Given the description of an element on the screen output the (x, y) to click on. 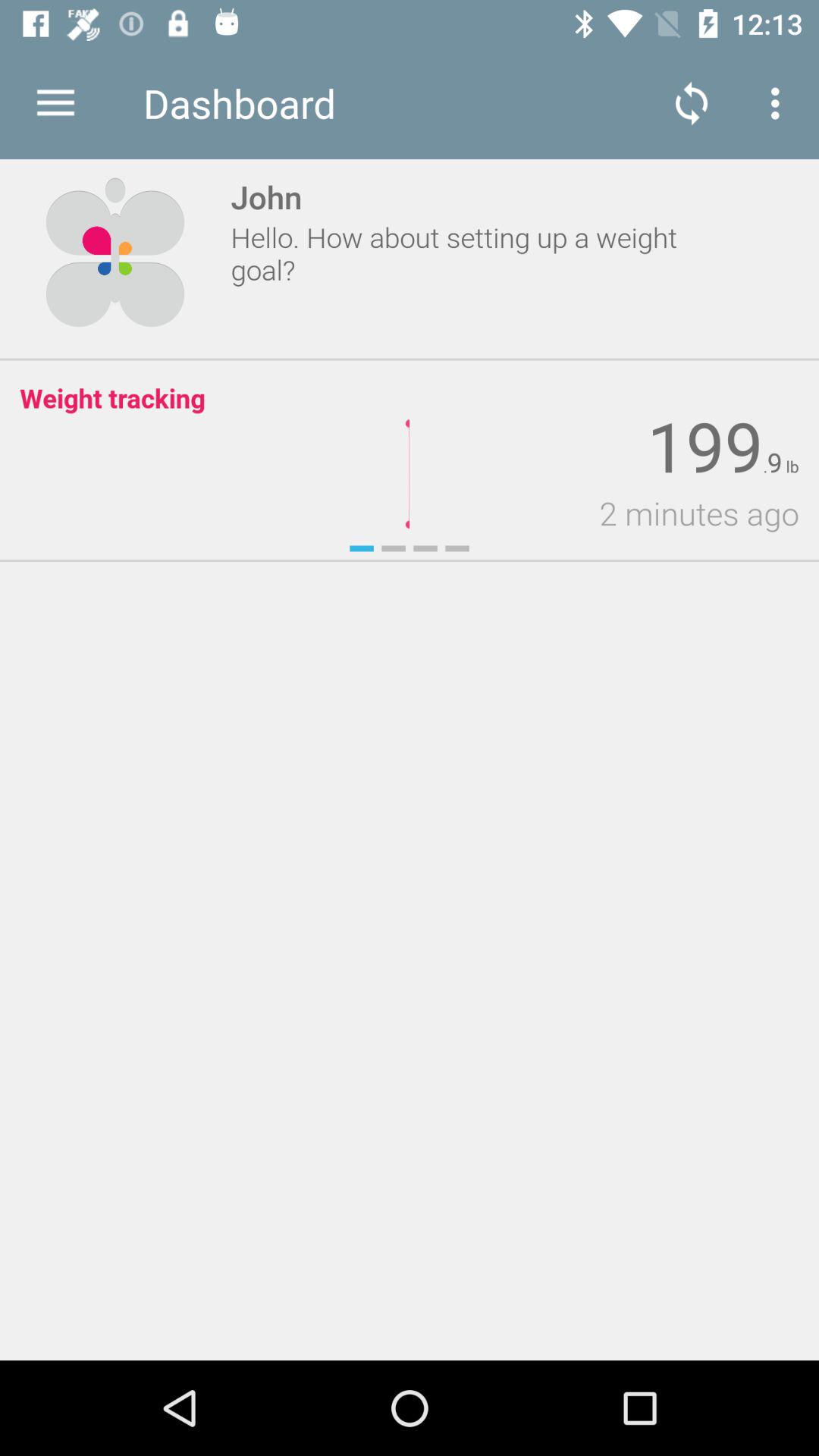
turn off the 199 (705, 447)
